Given the description of an element on the screen output the (x, y) to click on. 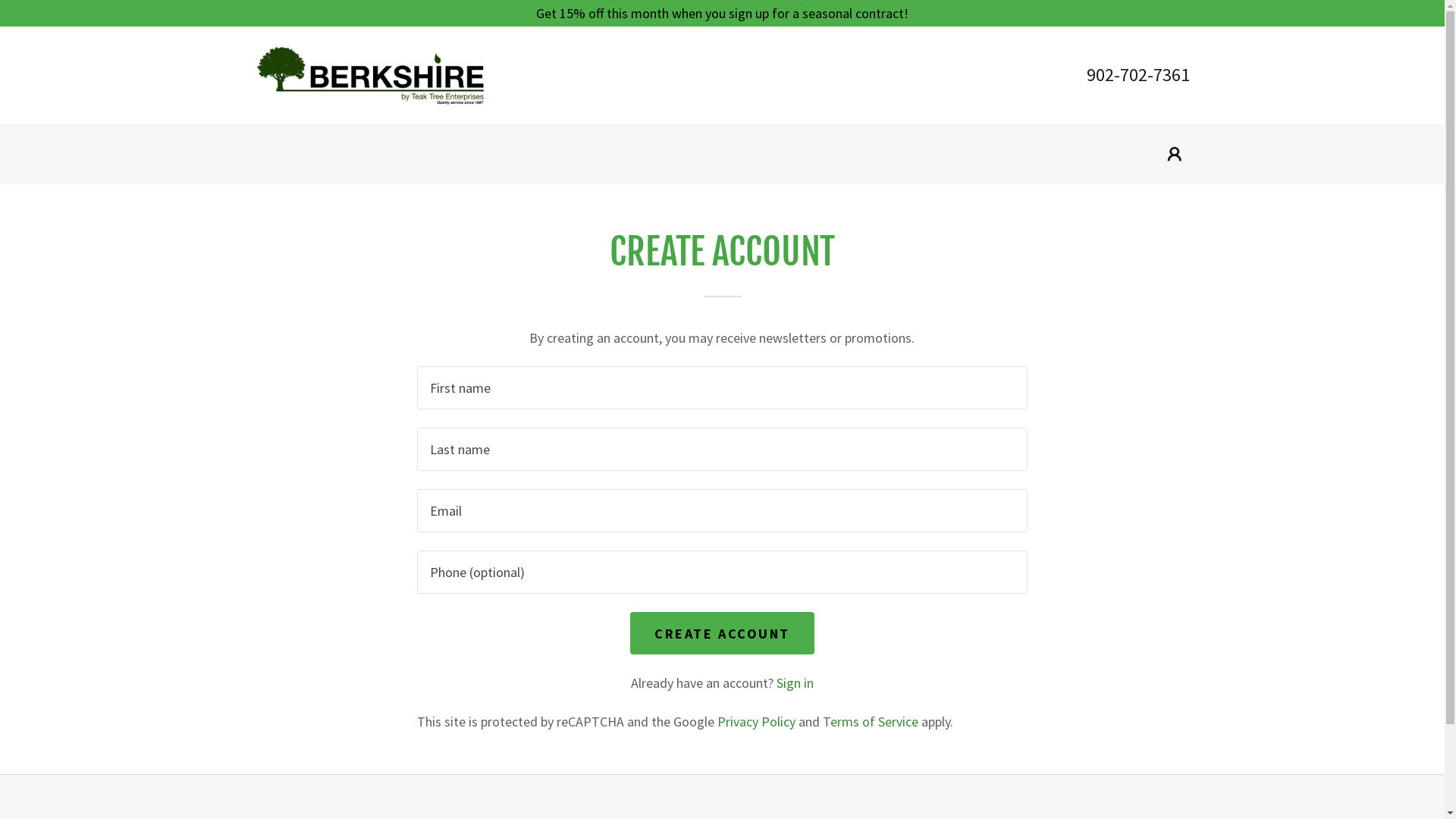
Privacy Policy Element type: text (756, 721)
Terms of Service Element type: text (870, 721)
Sign in Element type: text (794, 682)
902-702-7361 Element type: text (1137, 74)
Berkshire Property Maintenance Element type: hover (369, 72)
CREATE ACCOUNT Element type: text (722, 632)
